Given the description of an element on the screen output the (x, y) to click on. 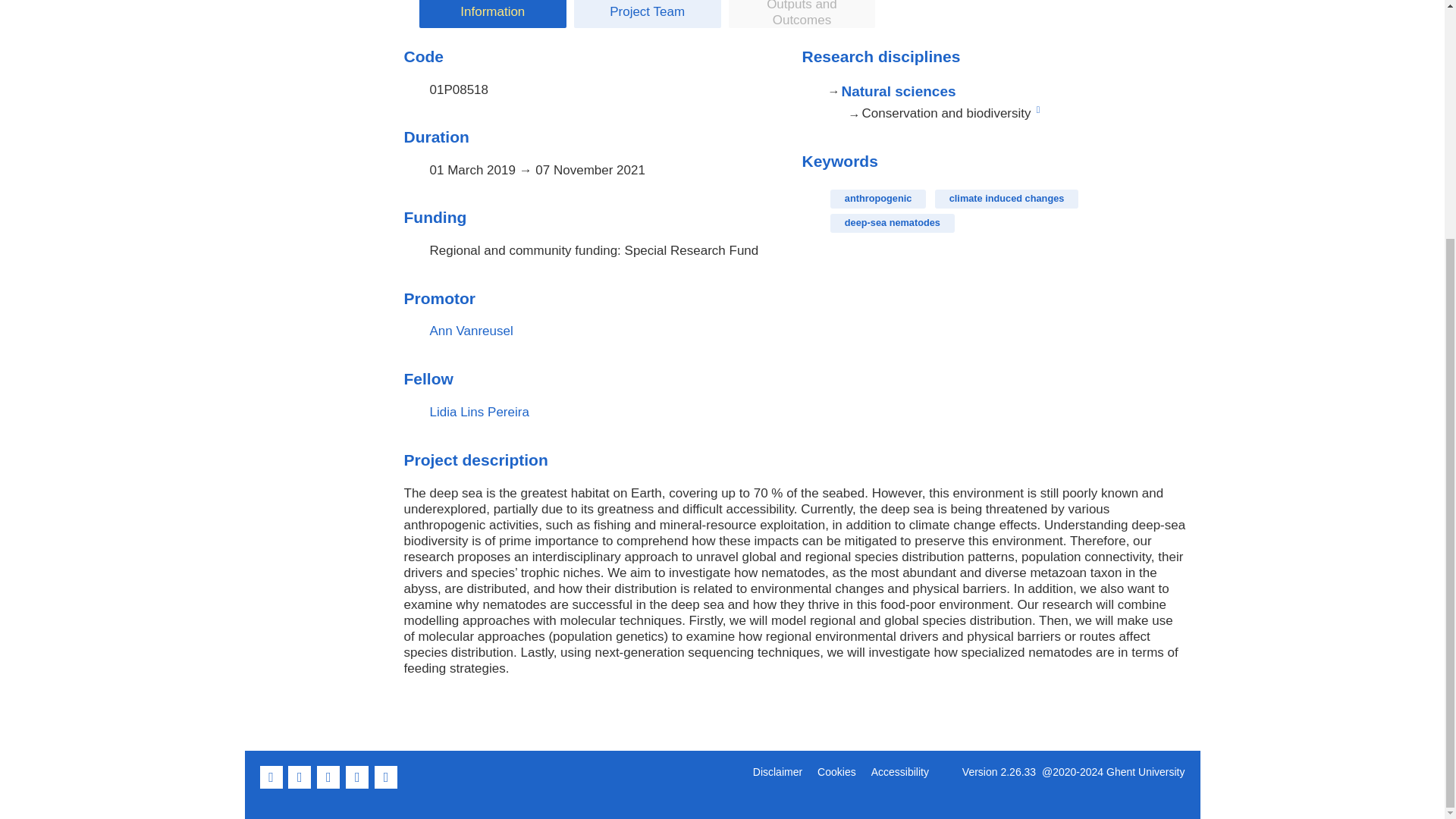
Ann Vanreusel (470, 330)
Outputs and Outcomes (802, 13)
Outputs and Outcomes (802, 13)
Twitter (301, 784)
Cookies (836, 771)
Instagram (387, 784)
Project Information (492, 13)
Information (492, 13)
Disclaimer (777, 771)
Lidia Lins Pereira (478, 411)
